Given the description of an element on the screen output the (x, y) to click on. 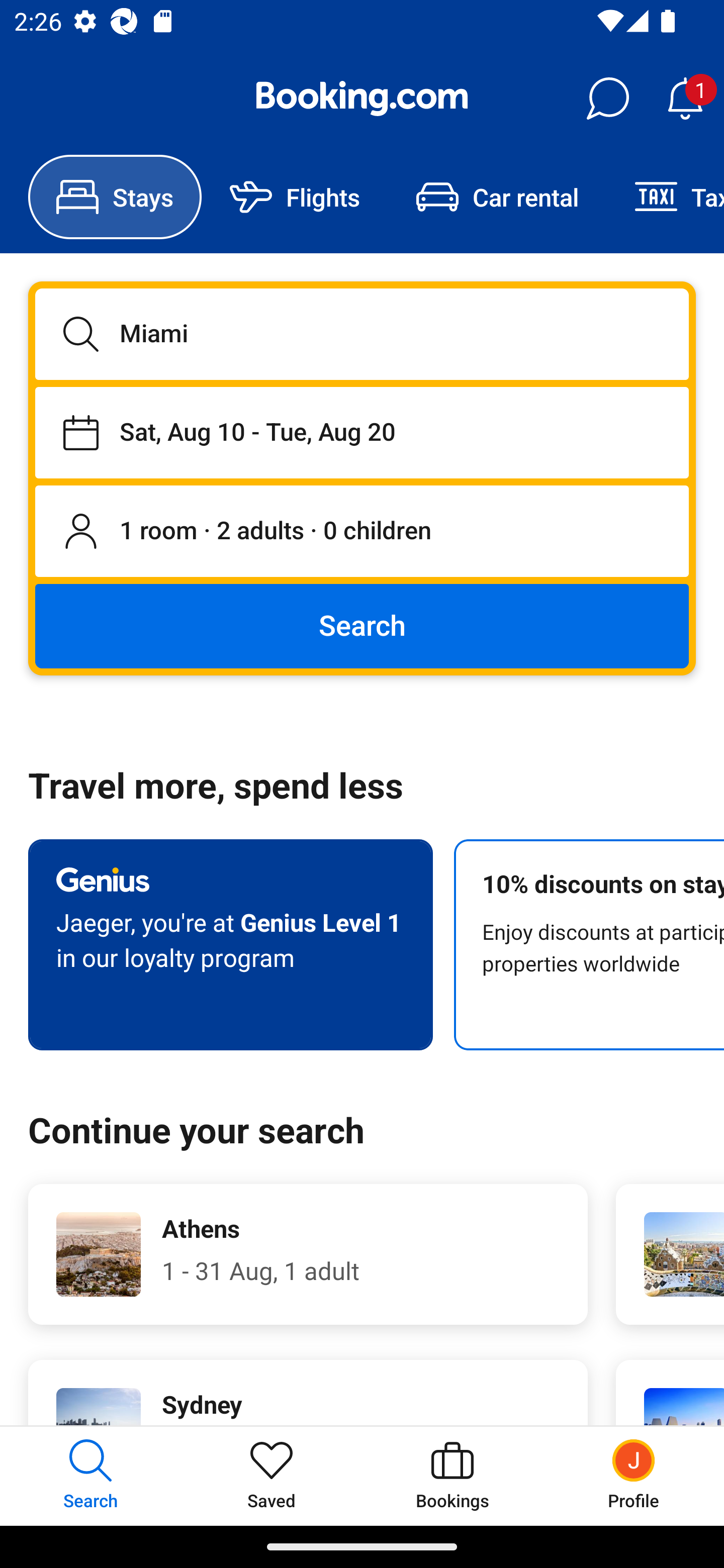
Messages (607, 98)
Notifications (685, 98)
Stays (114, 197)
Flights (294, 197)
Car rental (497, 197)
Taxi (665, 197)
Miami (361, 333)
Staying from Sat, Aug 10 until Tue, Aug 20 (361, 432)
1 room, 2 adults, 0 children (361, 531)
Search (361, 625)
Athens 1 - 31 Aug, 1 adult (307, 1253)
Saved (271, 1475)
Bookings (452, 1475)
Profile (633, 1475)
